Given the description of an element on the screen output the (x, y) to click on. 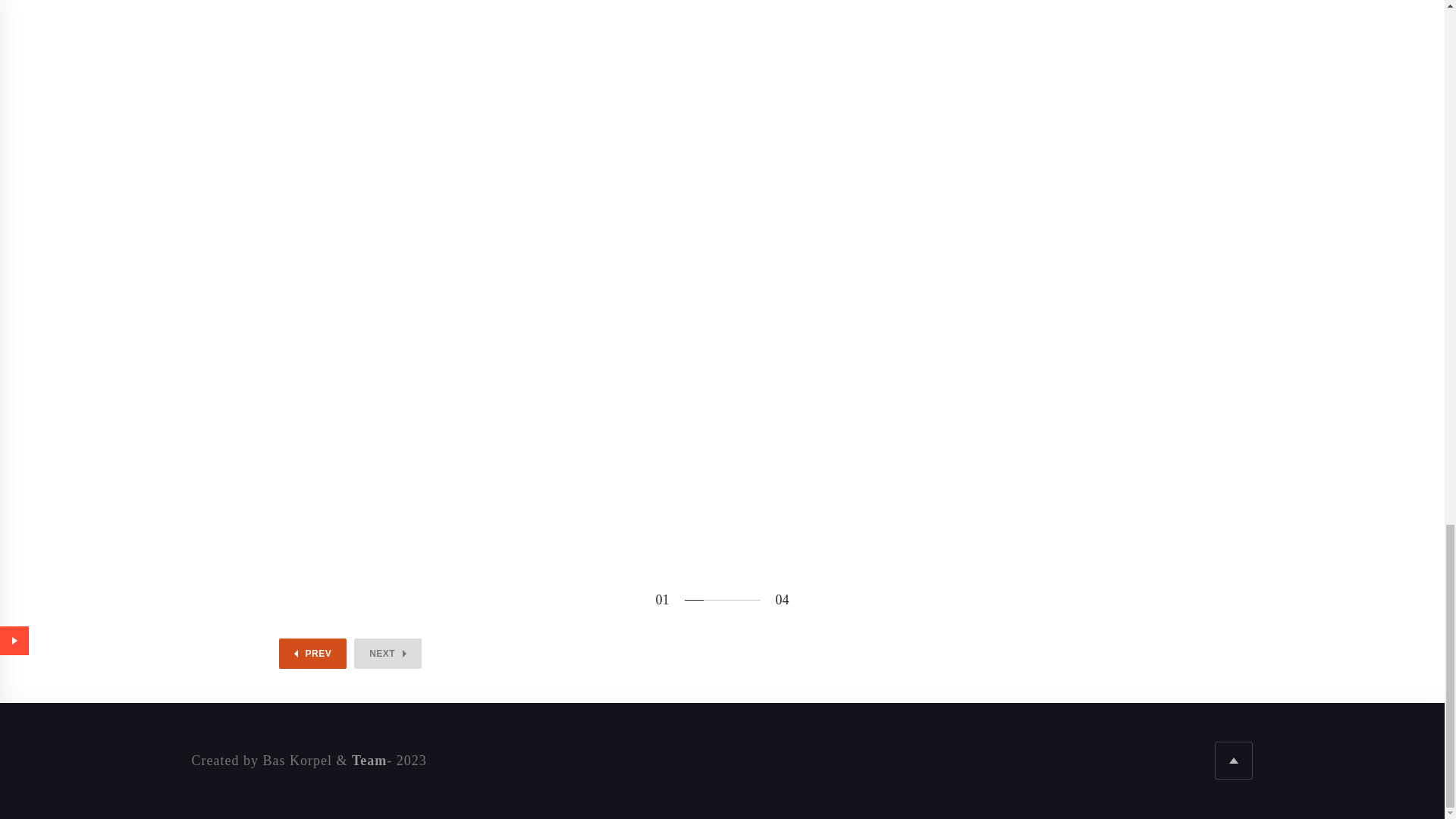
PREV (313, 653)
Team (369, 760)
